Given the description of an element on the screen output the (x, y) to click on. 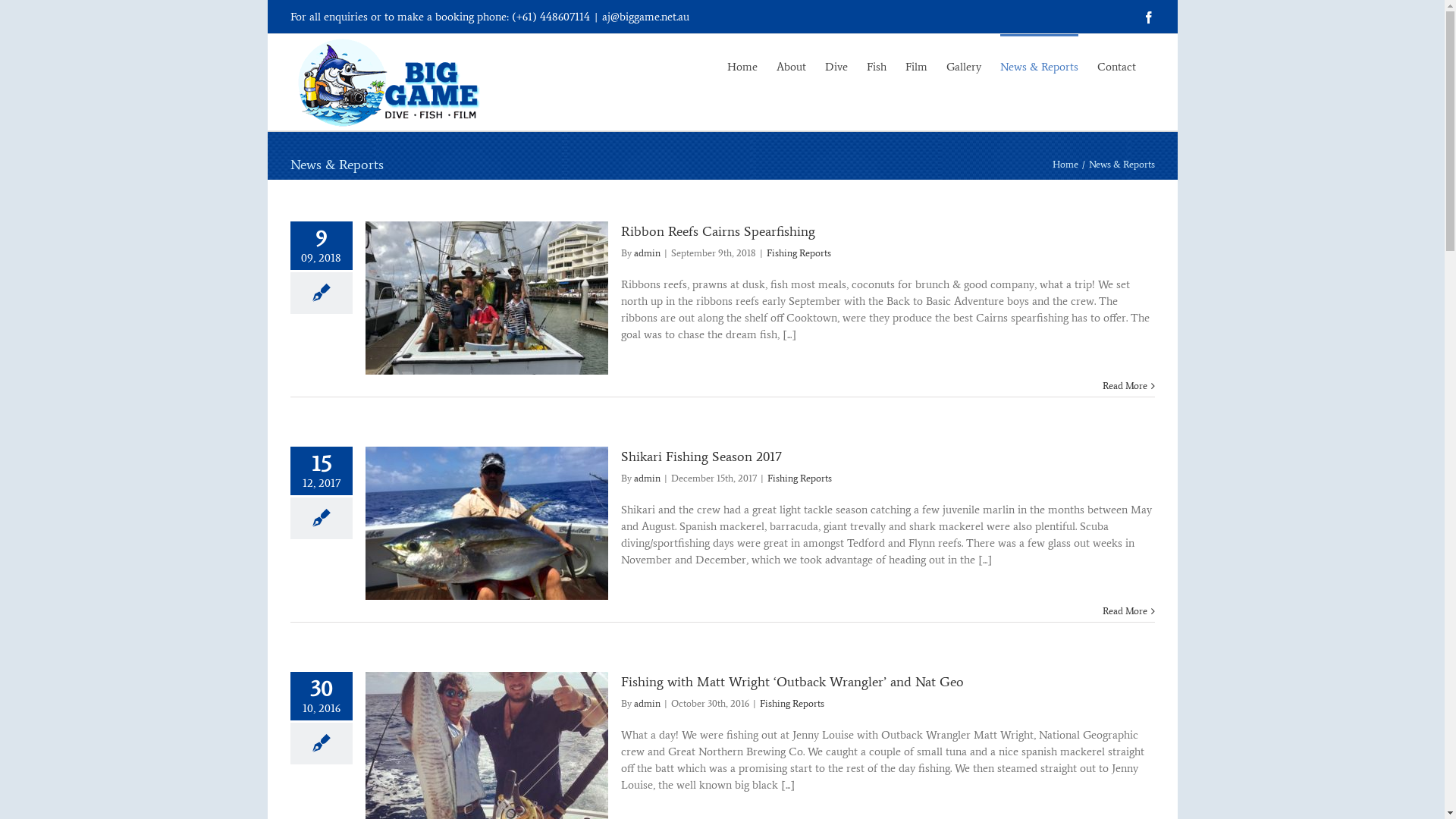
Home Element type: text (1065, 163)
Film Element type: text (916, 65)
Ribbon Reefs Cairns Spearfishing Element type: text (717, 230)
About Element type: text (791, 65)
Fishing Reports Element type: text (797, 252)
admin Element type: text (646, 703)
Dive Element type: text (836, 65)
Gallery Element type: text (963, 65)
Fishing Reports Element type: text (791, 703)
admin Element type: text (646, 252)
News & Reports Element type: text (1038, 65)
Read More Element type: text (1124, 610)
admin Element type: text (646, 477)
Fishing Reports Element type: text (799, 477)
Facebook Element type: text (1148, 17)
Home Element type: text (741, 65)
Fish Element type: text (875, 65)
Contact Element type: text (1115, 65)
aj@biggame.net.au Element type: text (645, 16)
Read More Element type: text (1124, 385)
Shikari Fishing Season 2017 Element type: text (700, 456)
